Given the description of an element on the screen output the (x, y) to click on. 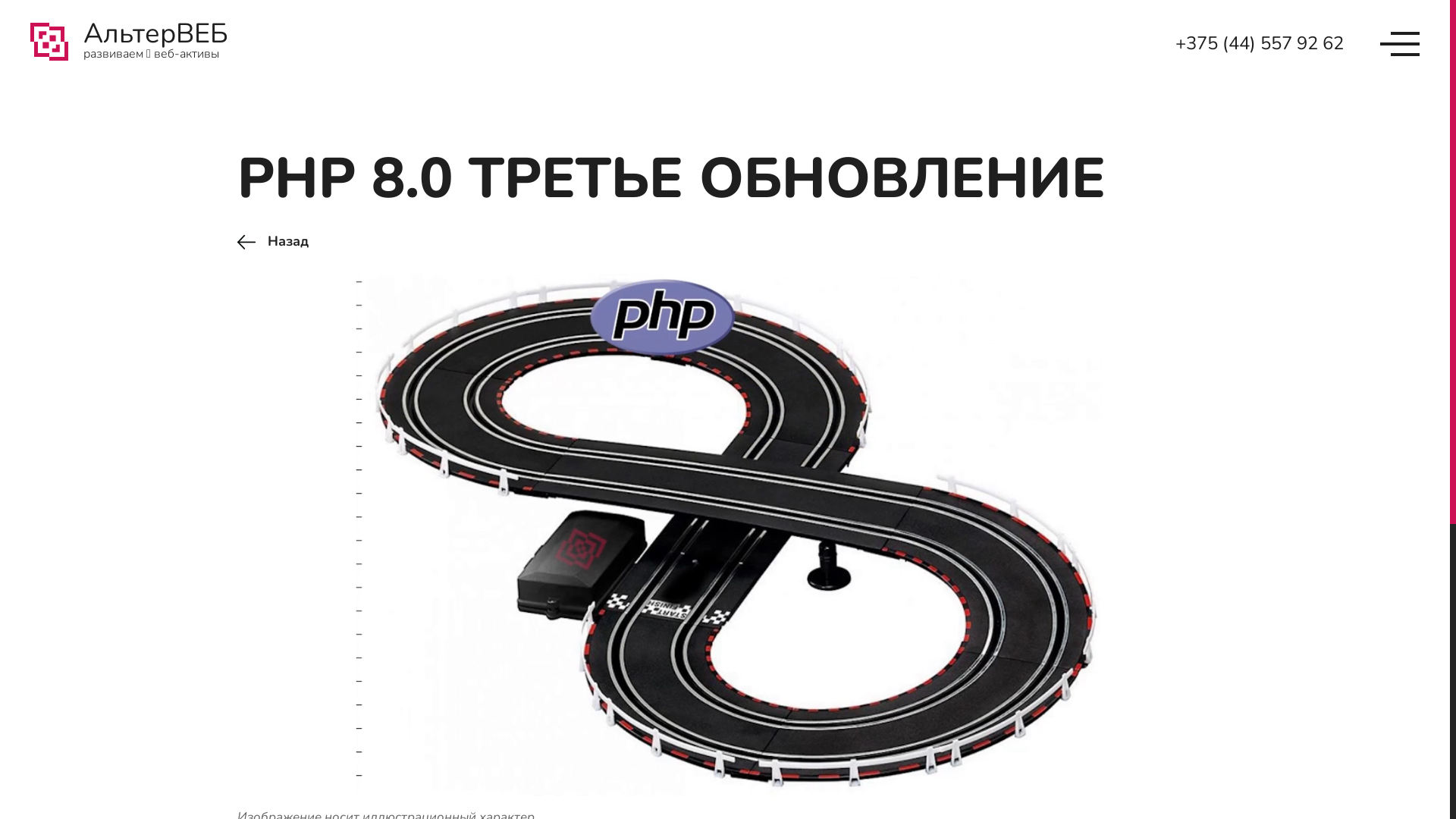
+375 (44) 557 92 62 Element type: text (1259, 43)
